Given the description of an element on the screen output the (x, y) to click on. 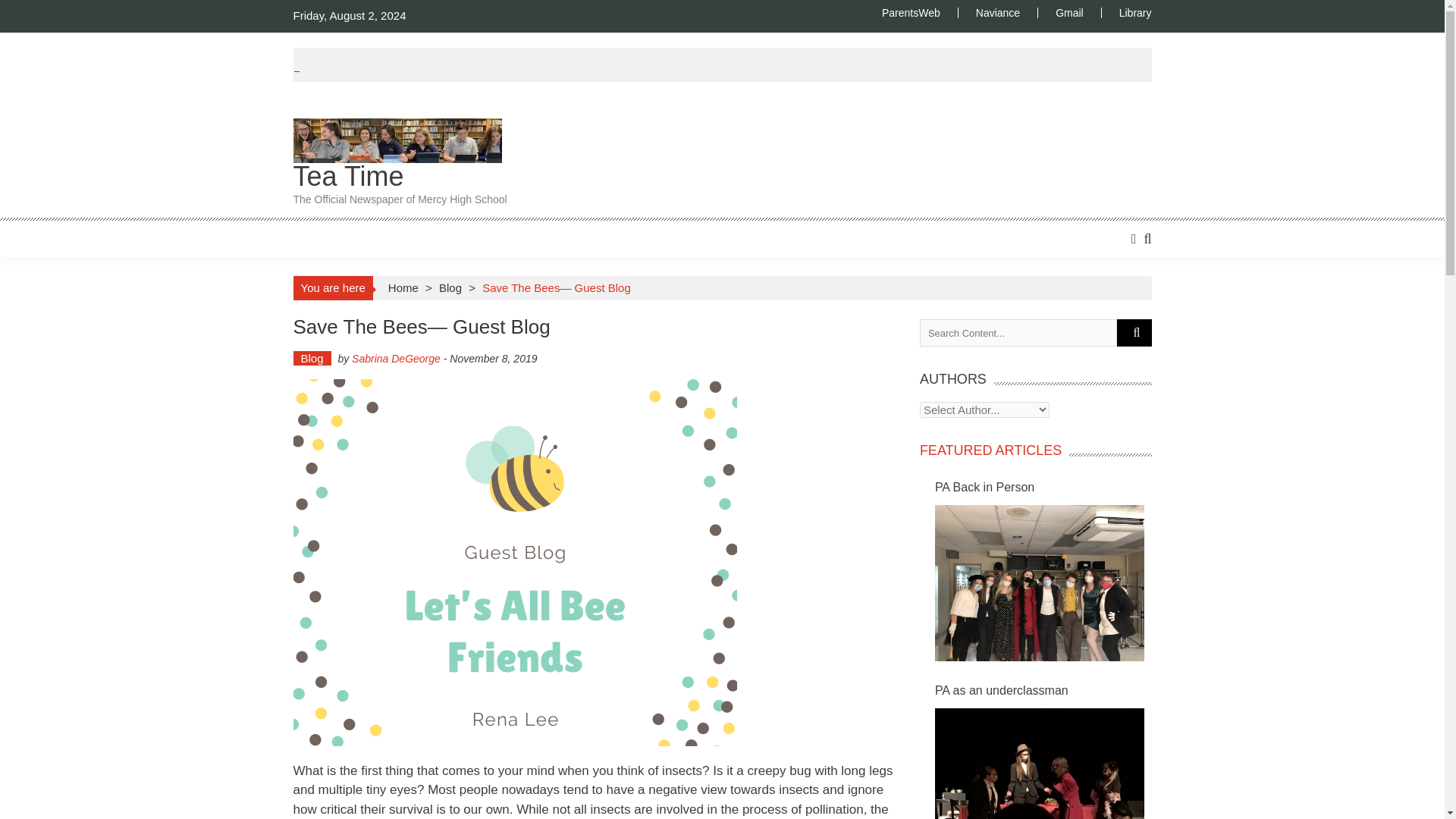
Blog (311, 358)
Blog (450, 286)
Home (403, 286)
PA Back in Person (1042, 487)
PA as an underclassman (1039, 763)
Search for: (1018, 332)
Library (1125, 12)
FEATURED ARTICLES (990, 450)
PA as an underclassman (1042, 690)
PA Back in Person (1039, 583)
Gmail (399, 185)
Sabrina DeGeorge (1068, 12)
Naviance (396, 358)
ParentsWeb (997, 12)
